Given the description of an element on the screen output the (x, y) to click on. 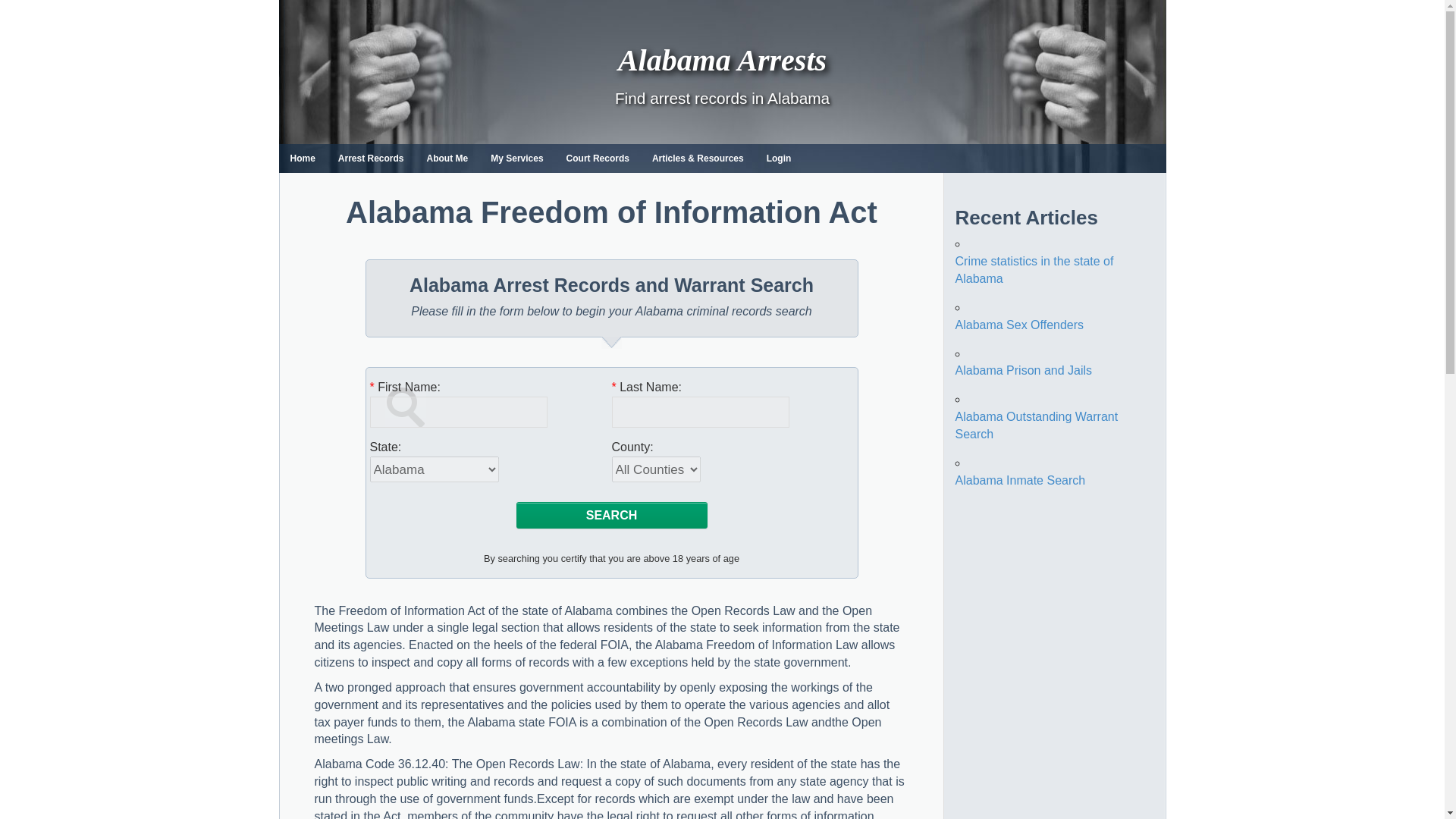
Alabama Prison and Jails (1024, 369)
SEARCH (611, 515)
About Me (447, 158)
Crime statistics in the state of Alabama (1034, 269)
Alabama Arrests (722, 59)
Login (779, 158)
Arrest Records (370, 158)
My Services (516, 158)
Alabama Outstanding Warrant Search (1036, 425)
Alabama Inmate Search (1020, 480)
Court Records (597, 158)
Alabama Sex Offenders (1019, 324)
SEARCH (611, 515)
Home (302, 158)
